Given the description of an element on the screen output the (x, y) to click on. 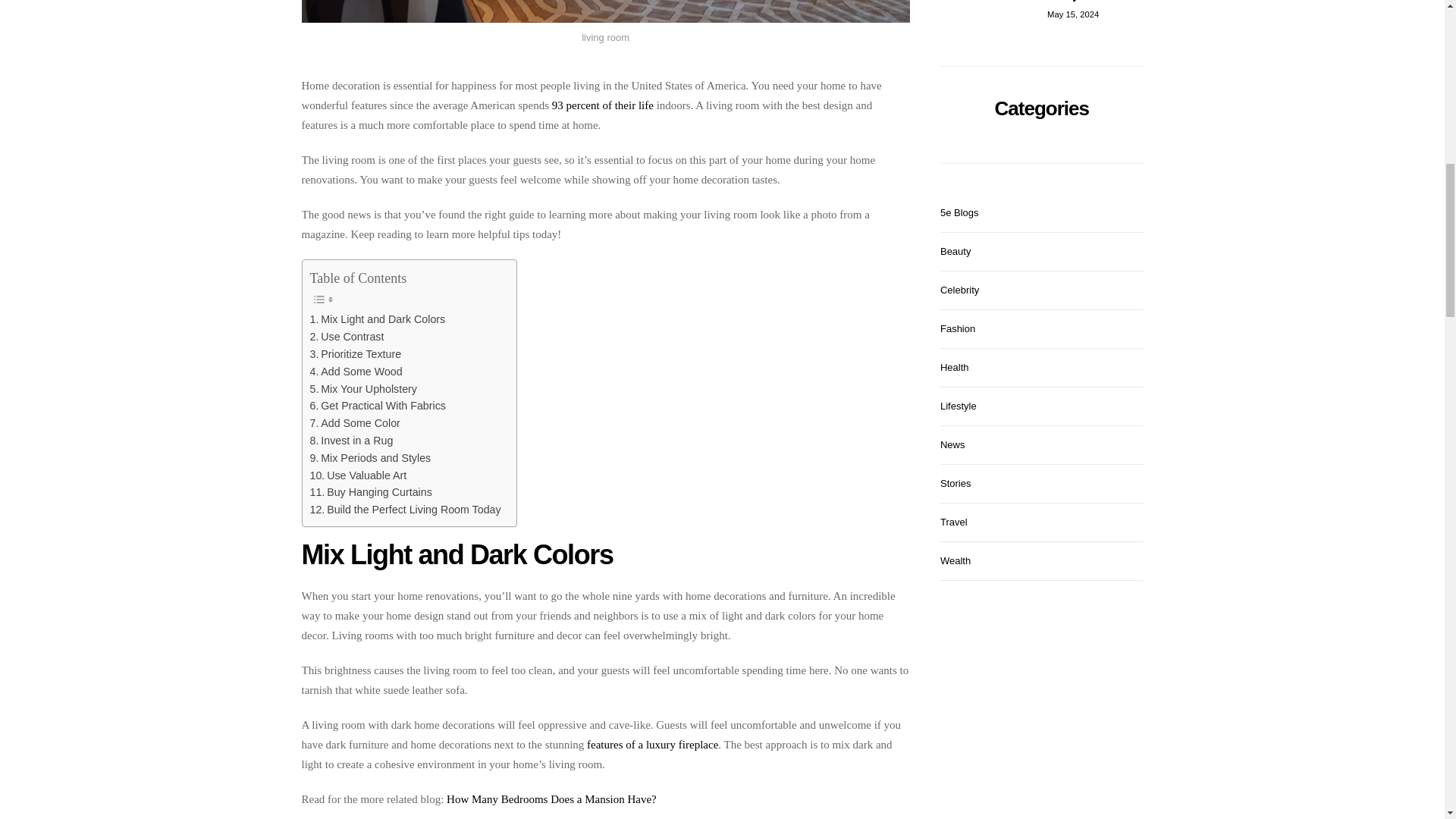
Mix Periods and Styles (369, 457)
Mix Periods and Styles (369, 457)
Use Valuable Art (357, 475)
Invest in a Rug (350, 440)
Mix Light and Dark Colors (376, 319)
Mix Light and Dark Colors (376, 319)
living room (605, 11)
Prioritize Texture (354, 354)
Use Contrast (346, 336)
Mix Your Upholstery (362, 389)
